Given the description of an element on the screen output the (x, y) to click on. 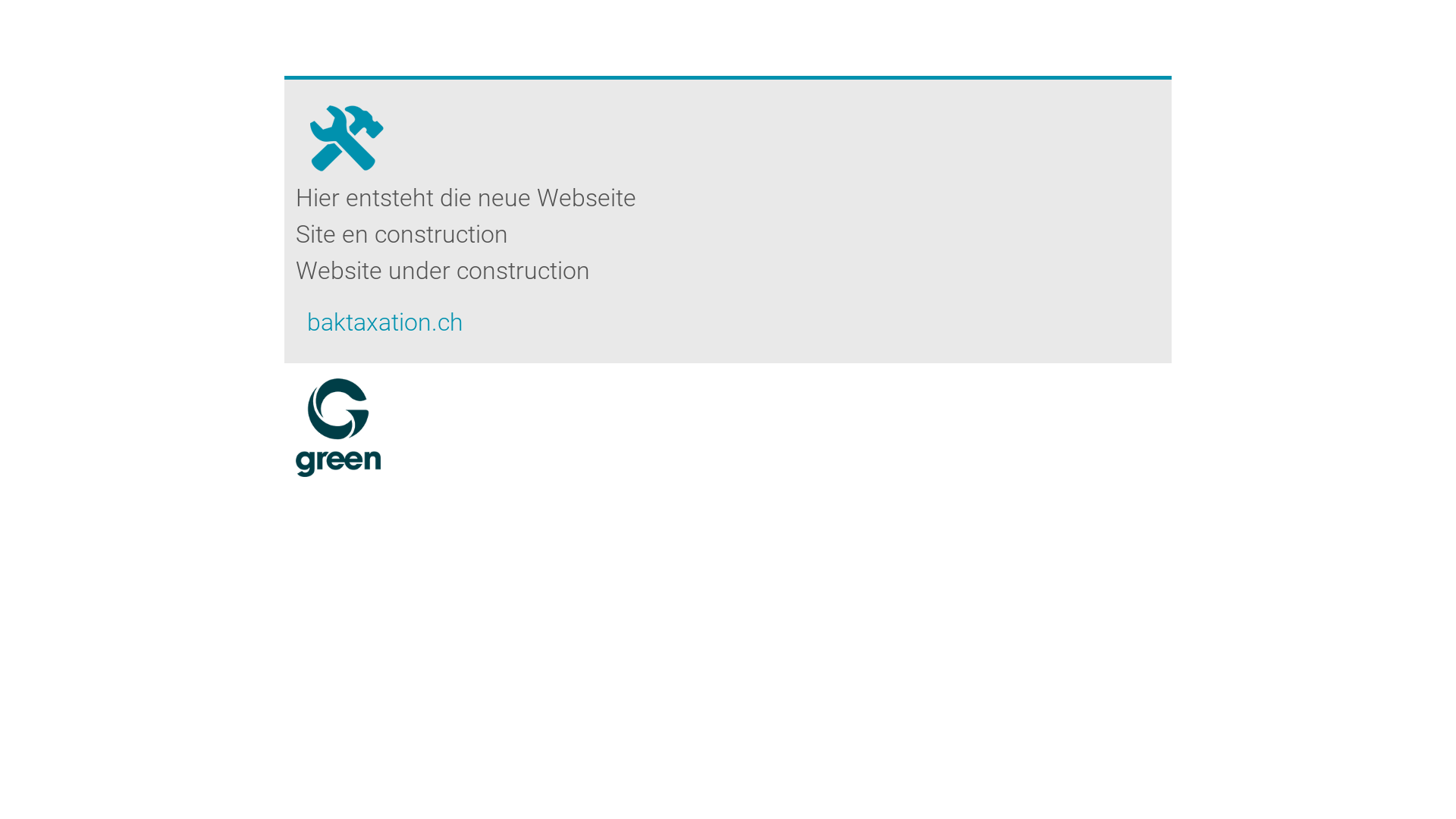
powered by green.ch Element type: hover (337, 427)
coming soon Element type: hover (345, 129)
